Given the description of an element on the screen output the (x, y) to click on. 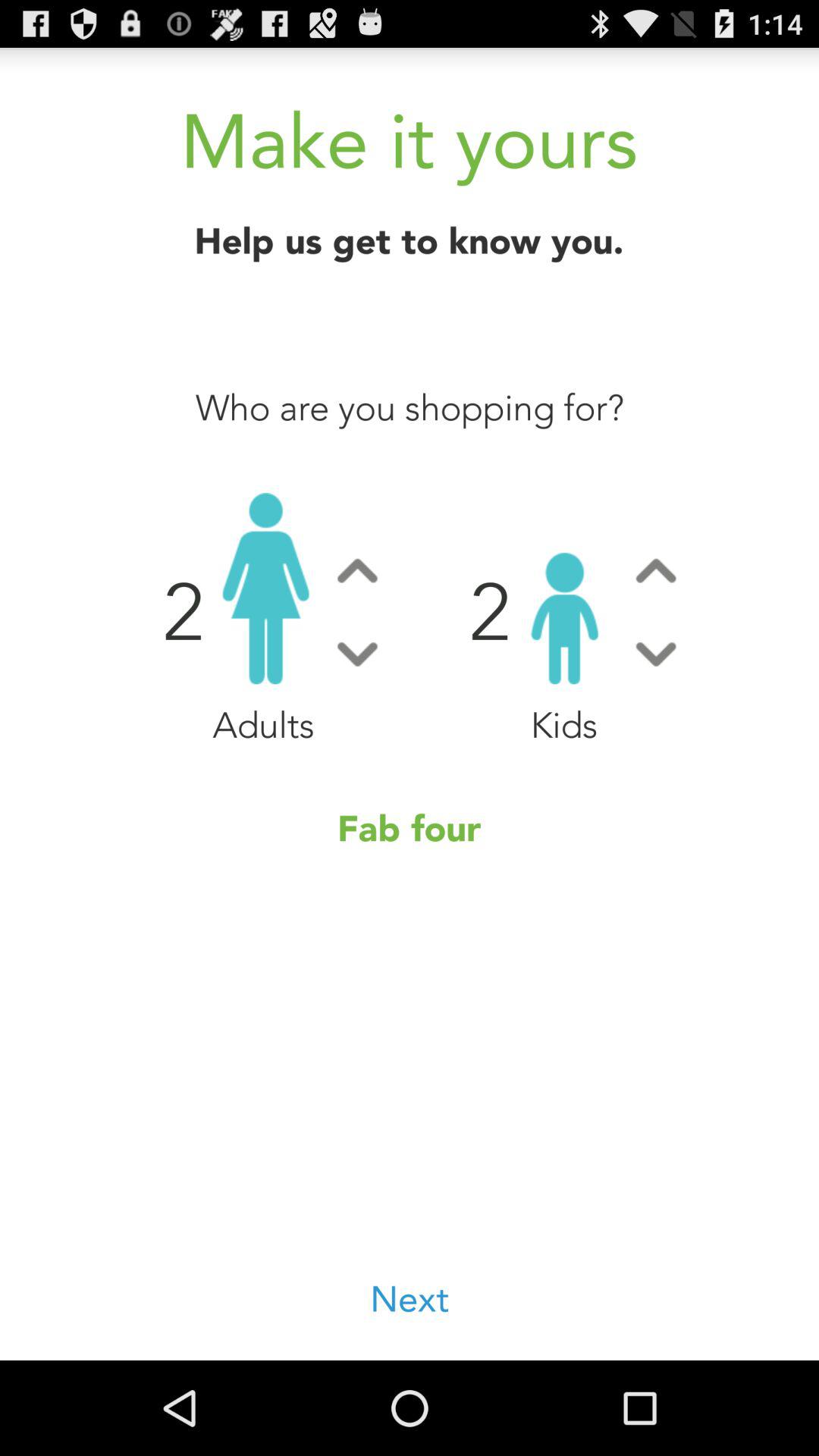
press next (409, 1300)
